Given the description of an element on the screen output the (x, y) to click on. 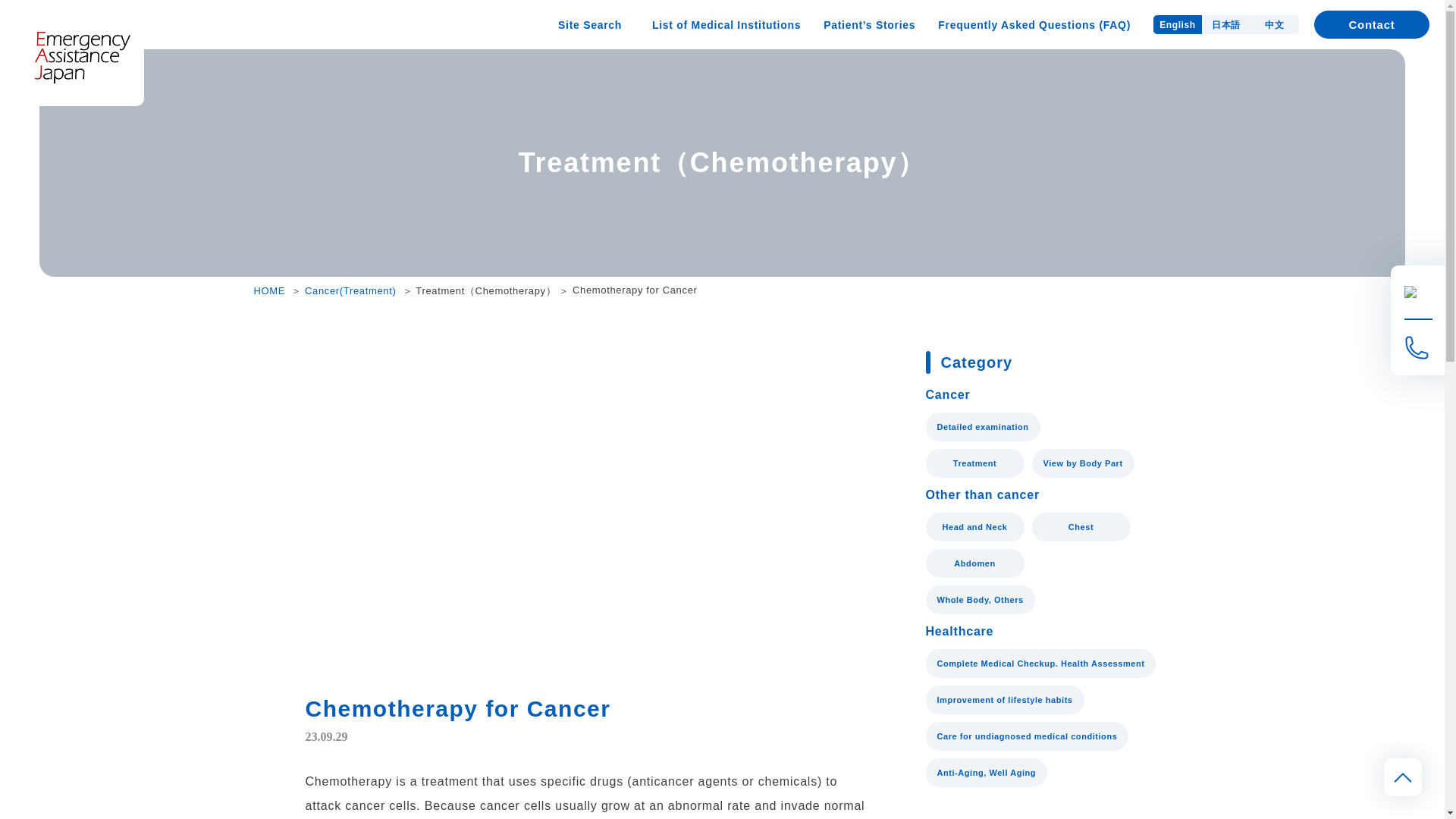
Complete Medical Checkup. Health Assessment (1040, 663)
Improvement of lifestyle habits (1003, 699)
HOME (269, 290)
Japanese (1226, 24)
Abdomen (973, 563)
Whole Body, Others (978, 599)
Anti-Aging, Well Aging (985, 772)
Care for undiagnosed medical conditions (1026, 736)
Detailed examination (981, 426)
English (1177, 24)
